Given the description of an element on the screen output the (x, y) to click on. 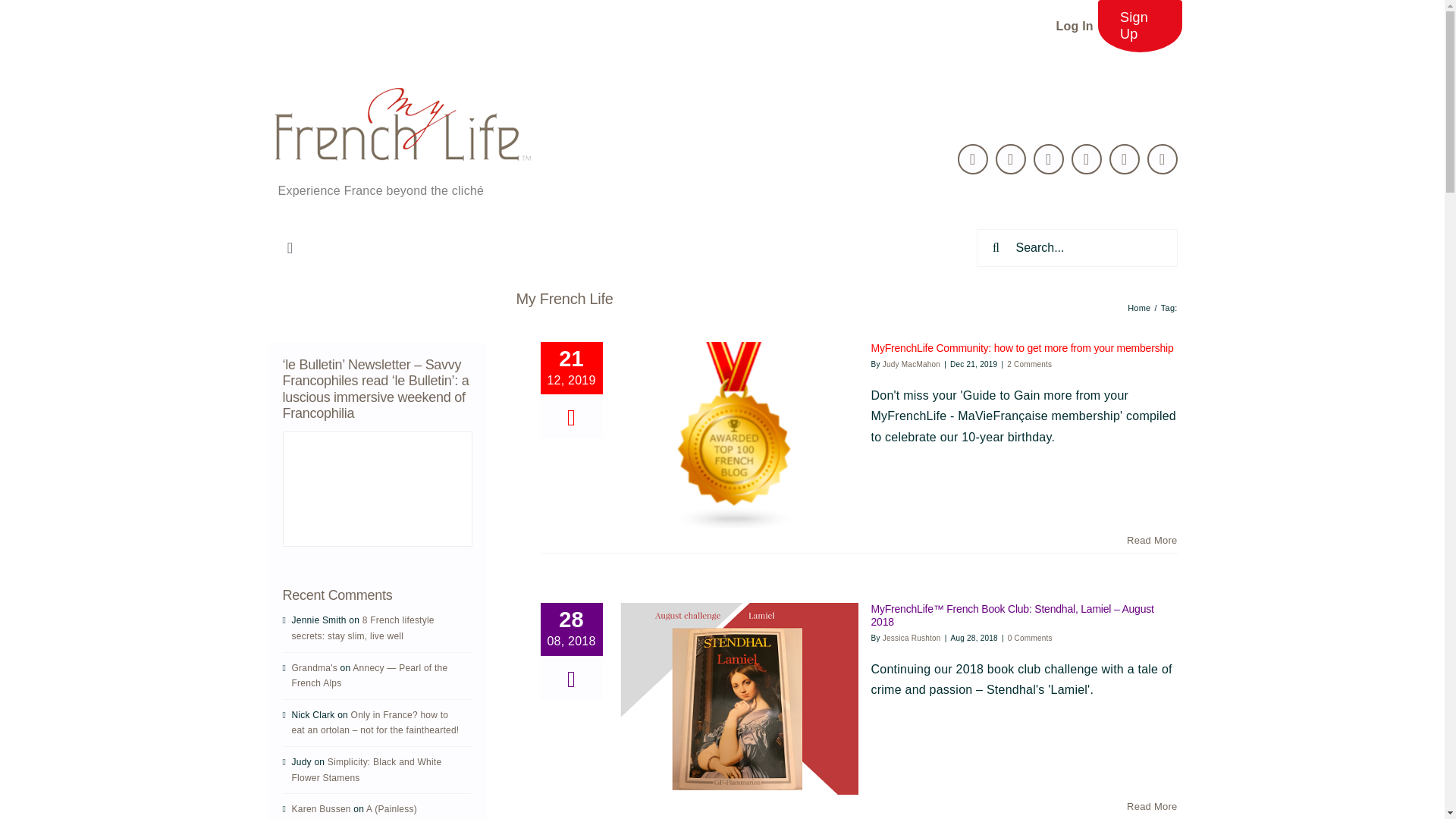
Posts by Judy MacMahon (911, 363)
Instagram (1162, 159)
Log In (1074, 25)
Posts by Jessica Rushton (911, 637)
Jessica Rushton (911, 637)
Toggle Navigation (289, 247)
Sign Up (1139, 26)
MyFrenchLife Community: how to get more from your membership (1021, 347)
Pinterest (1086, 159)
X (973, 159)
